Given the description of an element on the screen output the (x, y) to click on. 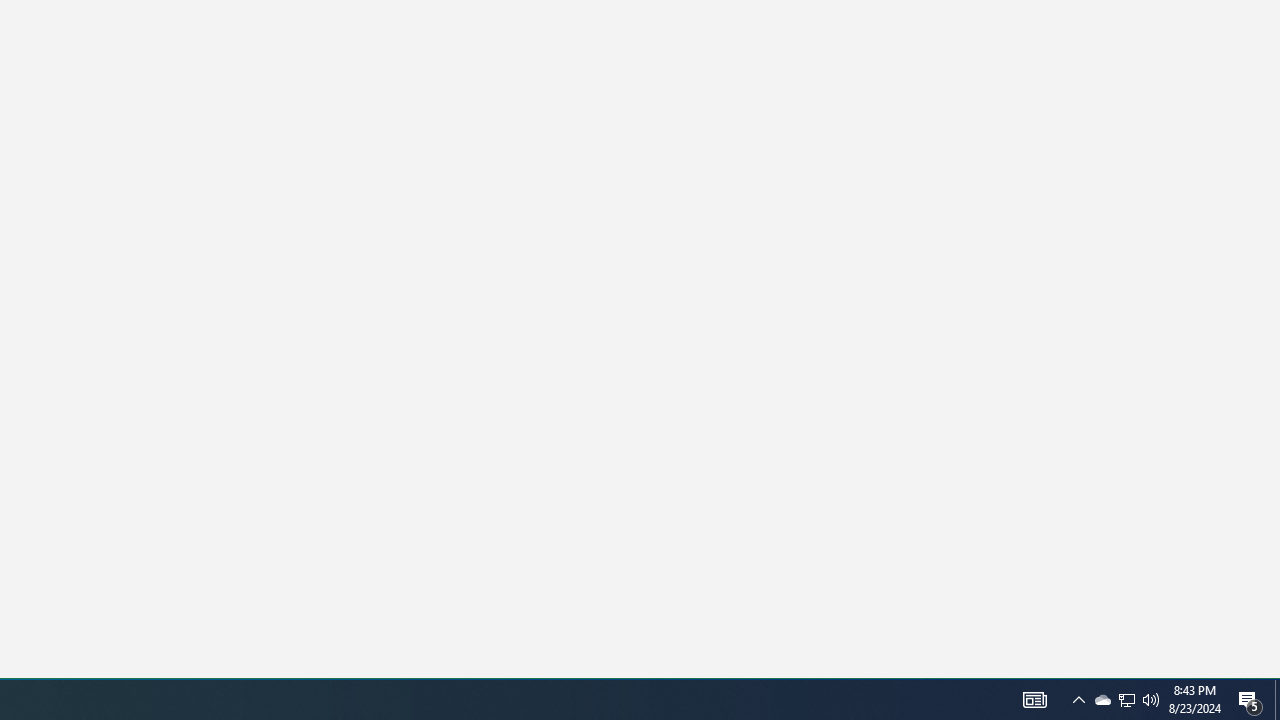
AutomationID: 4105 (1102, 699)
Show desktop (1034, 699)
Notification Chevron (1126, 699)
User Promoted Notification Area (1277, 699)
Q2790: 100% (1078, 699)
Action Center, 5 new notifications (1126, 699)
